Given the description of an element on the screen output the (x, y) to click on. 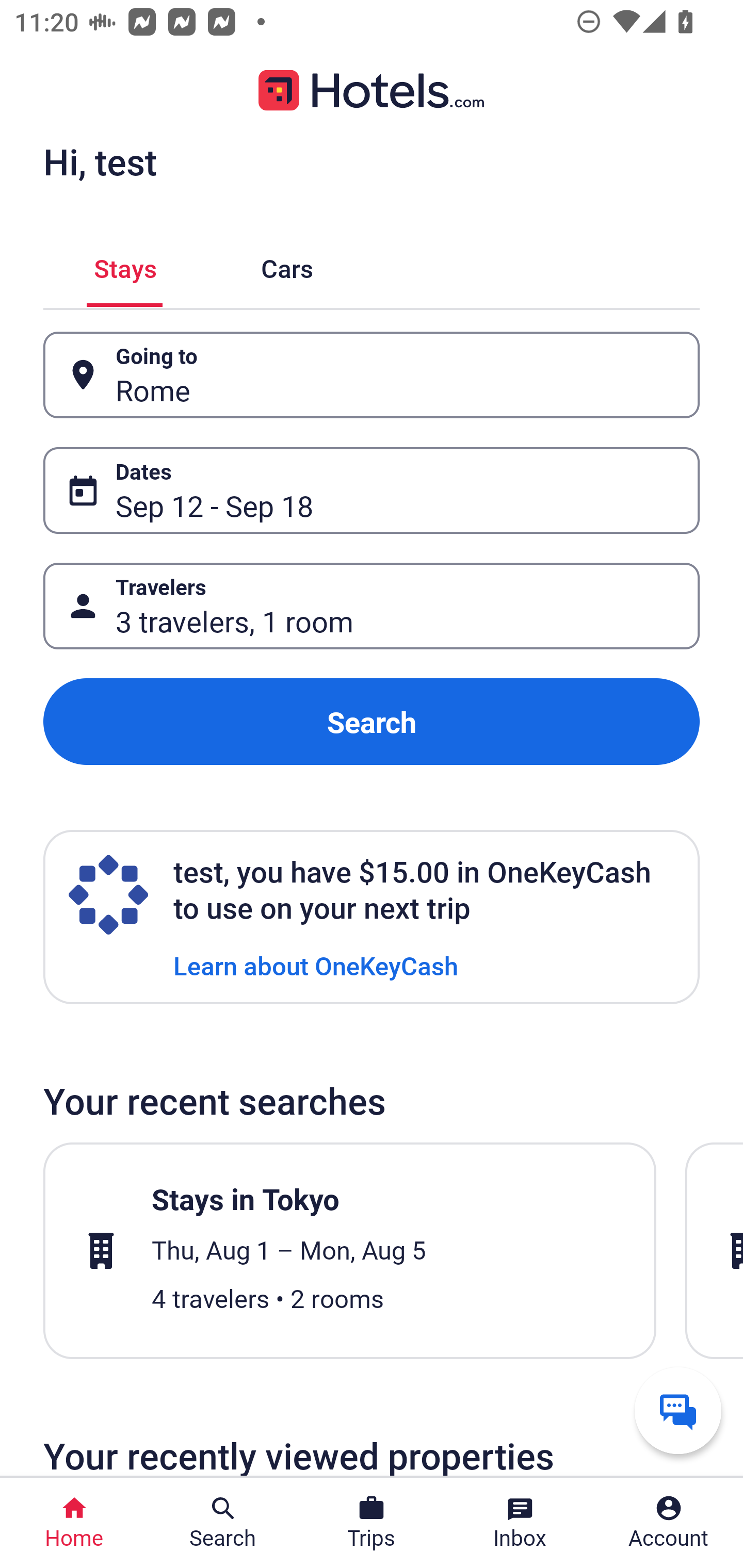
Hi, test (99, 161)
Cars (286, 265)
Going to Button Rome (371, 375)
Dates Button Sep 12 - Sep 18 (371, 489)
Travelers Button 3 travelers, 1 room (371, 605)
Search (371, 721)
Learn about OneKeyCash Learn about OneKeyCash Link (315, 964)
Get help from a virtual agent (677, 1410)
Search Search Button (222, 1522)
Trips Trips Button (371, 1522)
Inbox Inbox Button (519, 1522)
Account Profile. Button (668, 1522)
